Given the description of an element on the screen output the (x, y) to click on. 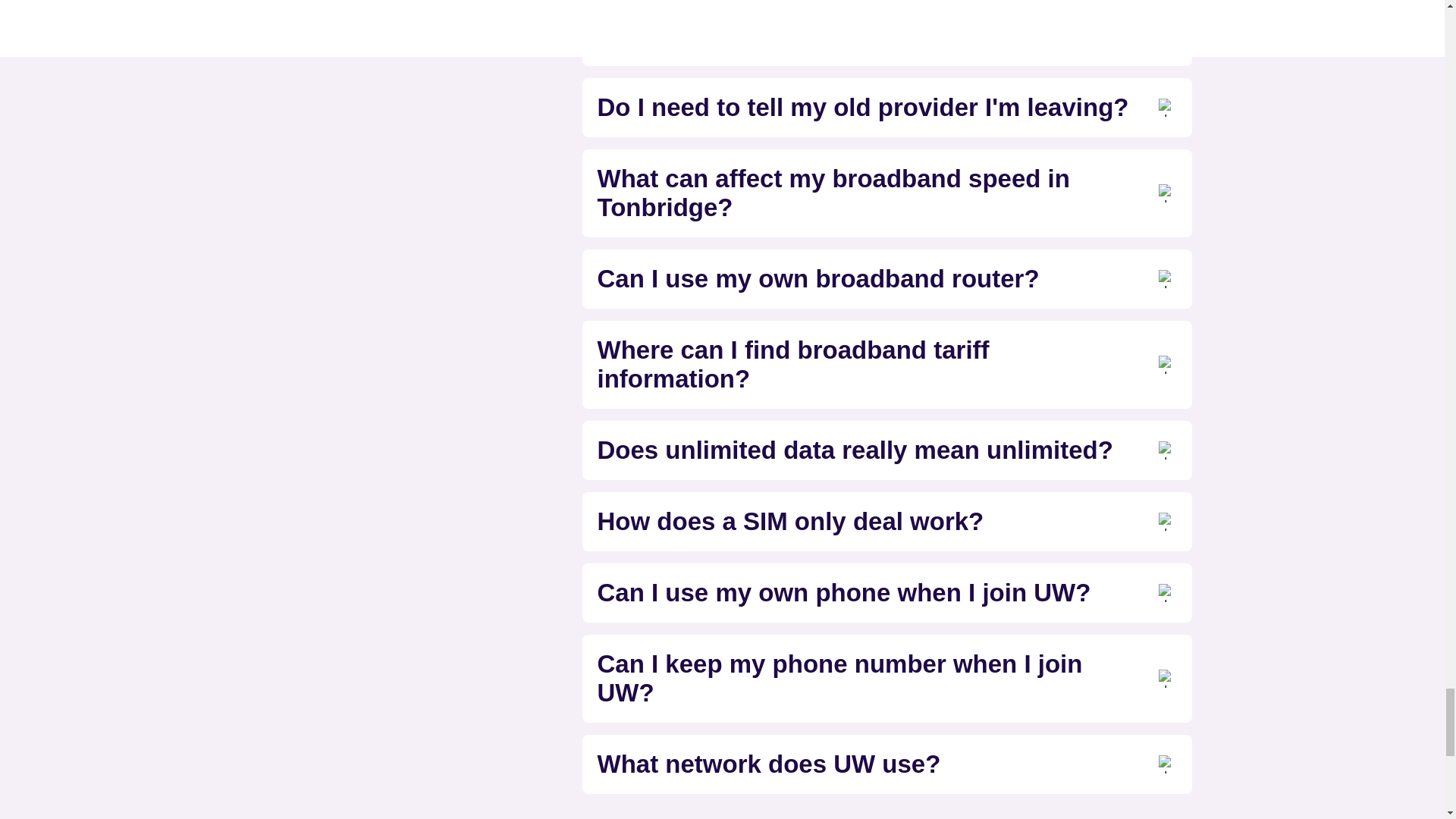
Do I need to tell my old provider I'm leaving? (886, 107)
Can I use my own broadband router? (886, 278)
How do I switch my broadband? (886, 36)
How does a SIM only deal work? (886, 521)
Does unlimited data really mean unlimited? (886, 450)
What can affect my broadband speed in Tonbridge? (886, 192)
Where can I find broadband tariff information? (886, 364)
